Given the description of an element on the screen output the (x, y) to click on. 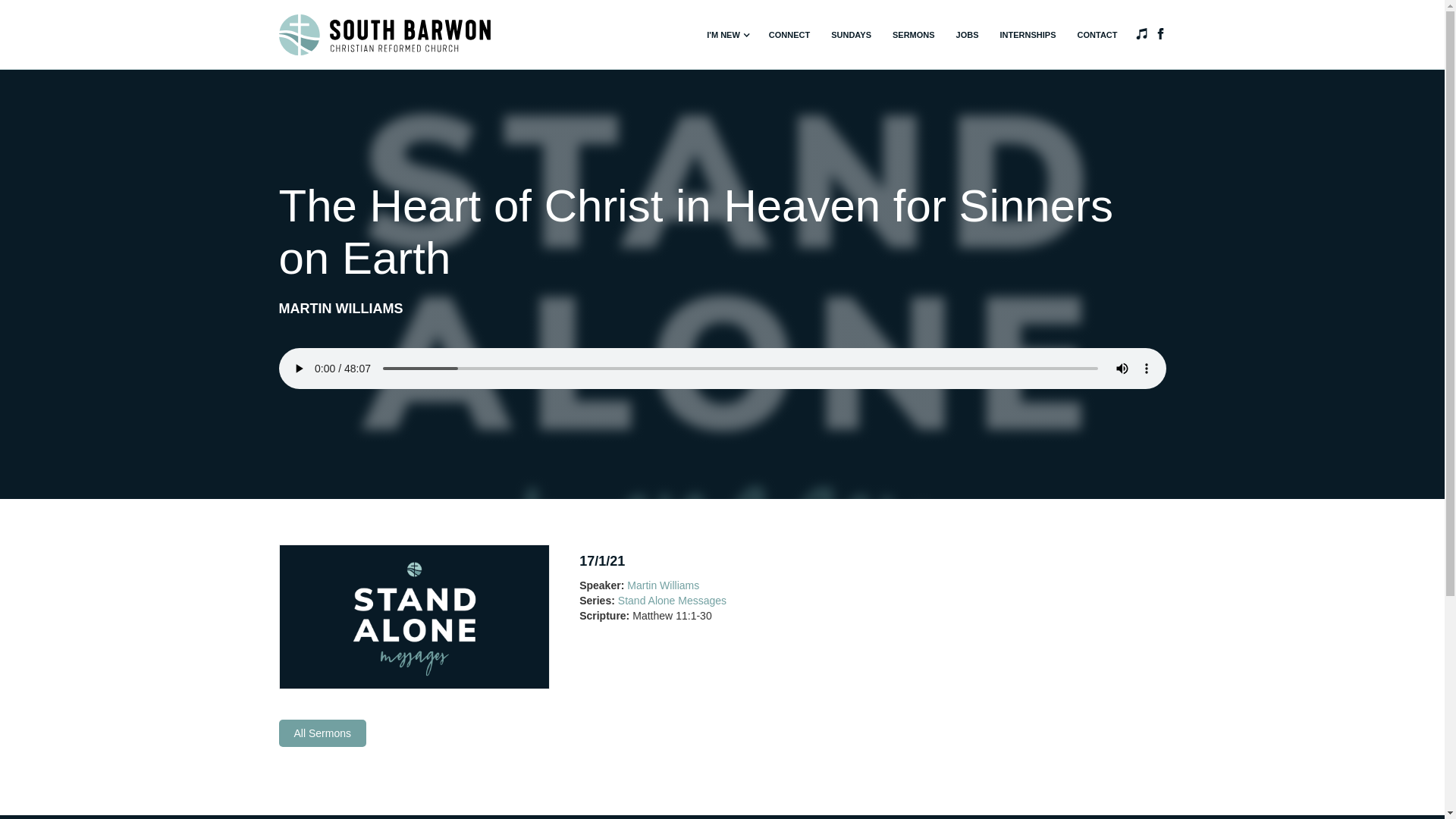
All Sermons Element type: text (322, 732)
CONNECT Element type: text (789, 34)
JOBS Element type: text (967, 34)
Stand Alone Messages Element type: text (672, 600)
Martin Williams Element type: text (663, 585)
CONTACT Element type: text (1097, 34)
SUNDAYS Element type: text (850, 34)
SERMONS Element type: text (913, 34)
INTERNSHIPS Element type: text (1027, 34)
